Given the description of an element on the screen output the (x, y) to click on. 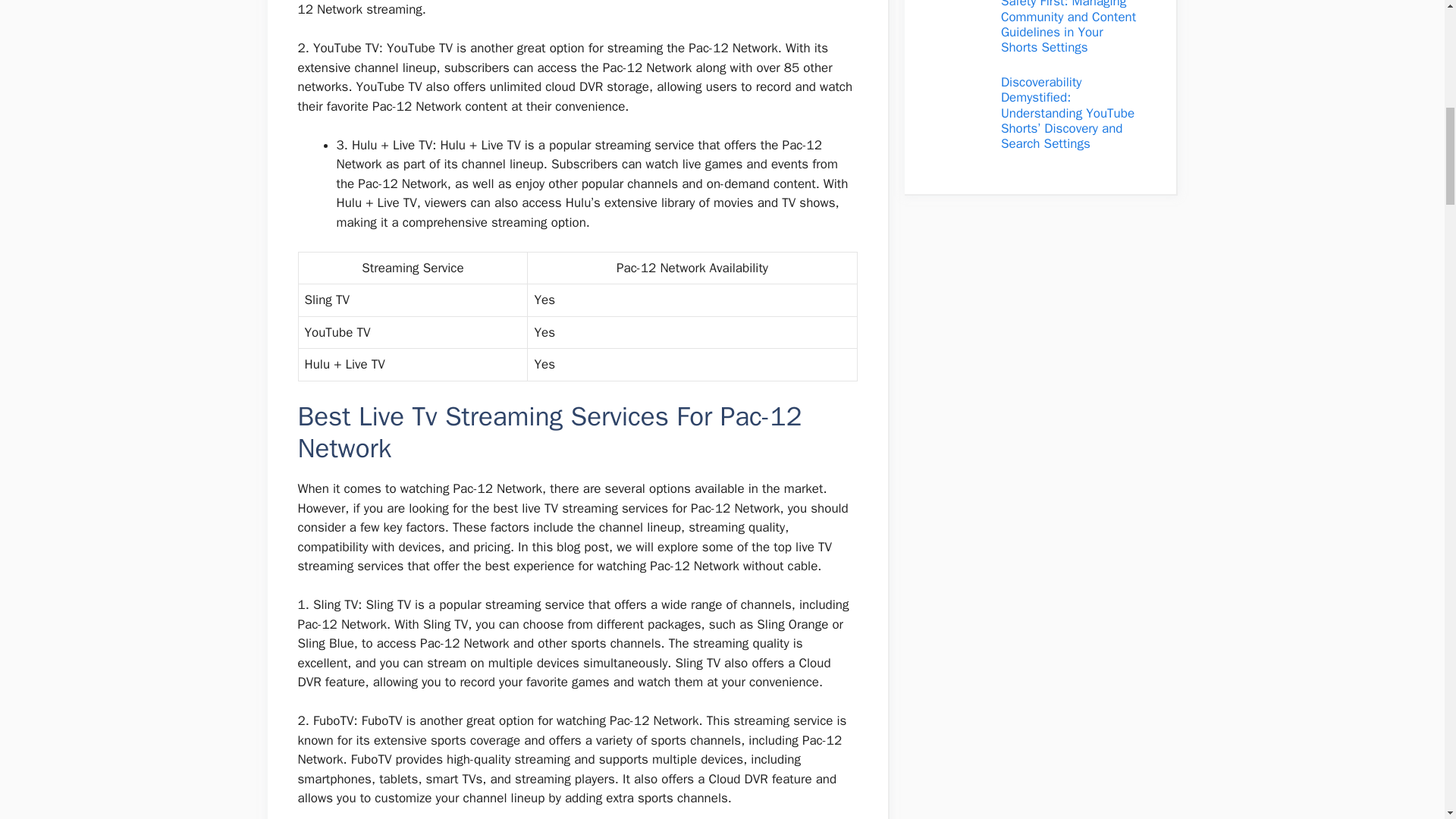
Scroll back to top (1406, 720)
